Given the description of an element on the screen output the (x, y) to click on. 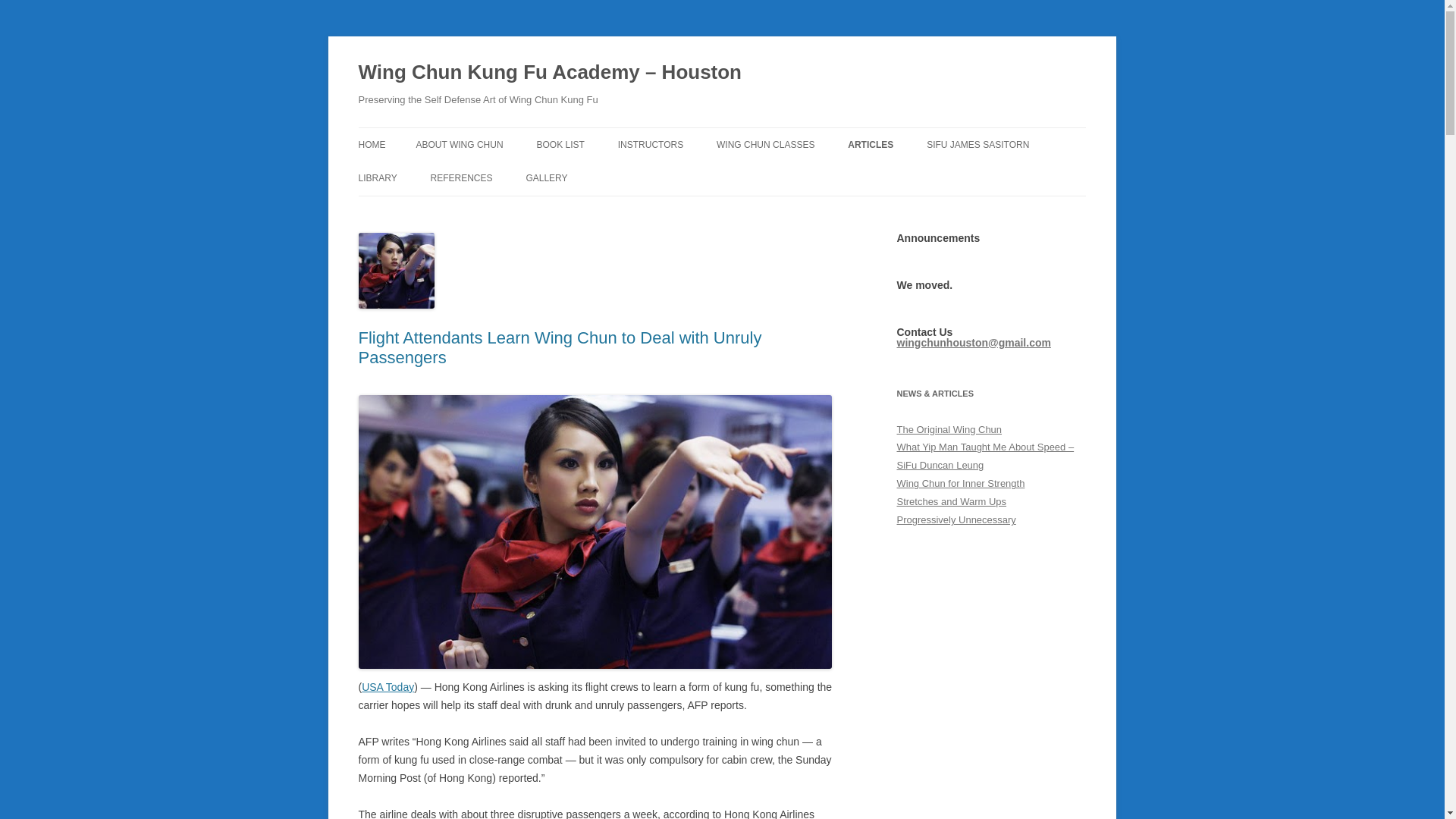
USA Today (387, 686)
WING CHUN SYSTEM (490, 176)
Flight Attendants Learn Wing Chun (594, 531)
ABOUT WING CHUN (458, 144)
LIBRARY (377, 177)
SIFU JAMES SASITORN (977, 144)
WING CHUN CLASSES (764, 144)
REFERENCES (461, 177)
BOOK LIST (559, 144)
GALLERY (546, 177)
